Given the description of an element on the screen output the (x, y) to click on. 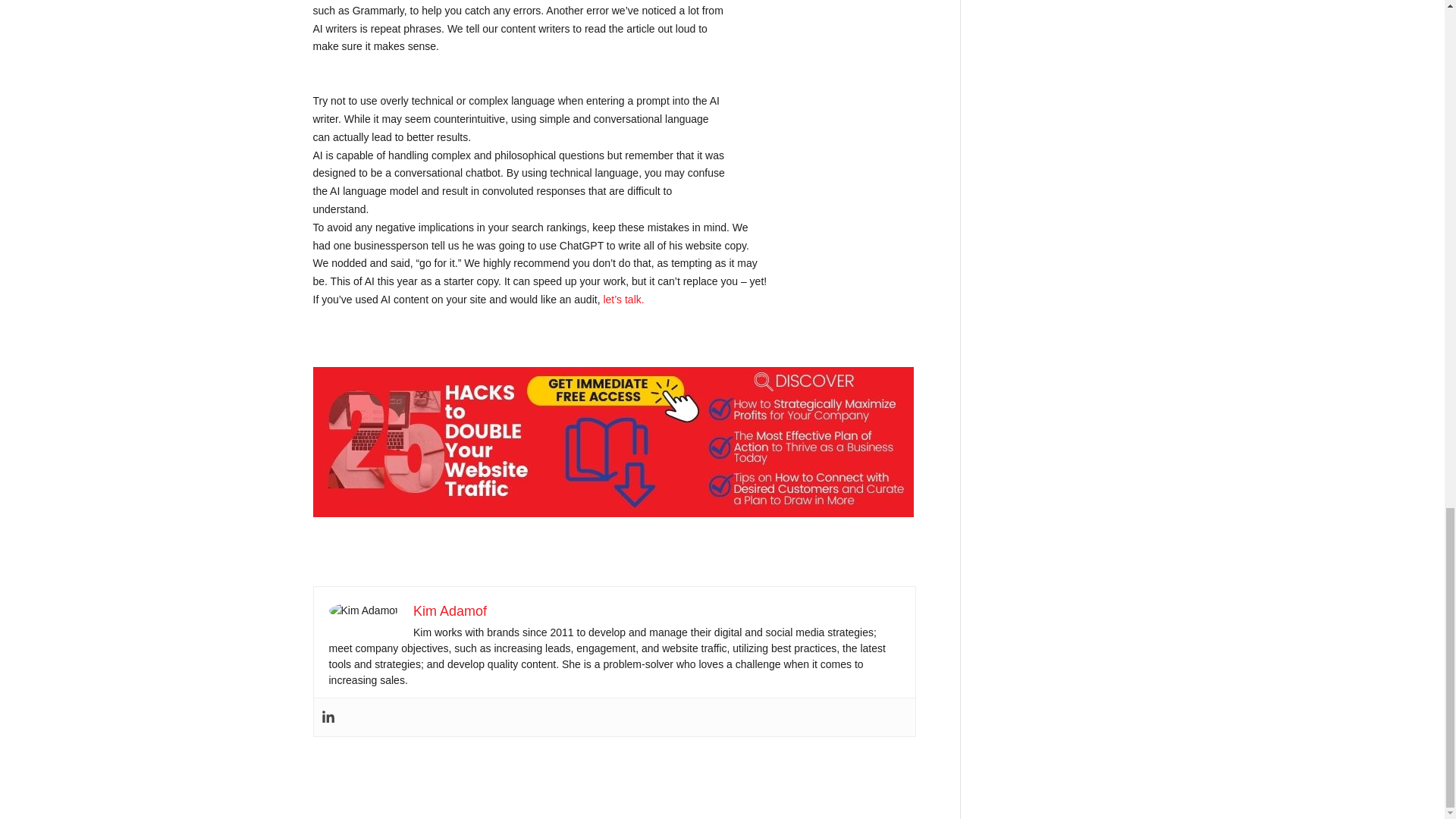
Linkedin (327, 717)
Caution, Most Businesses are Using AI Wrong 1 (363, 610)
Blog-Ebook-25-hacks-ebook-double-your-website-traffic (612, 441)
